Given the description of an element on the screen output the (x, y) to click on. 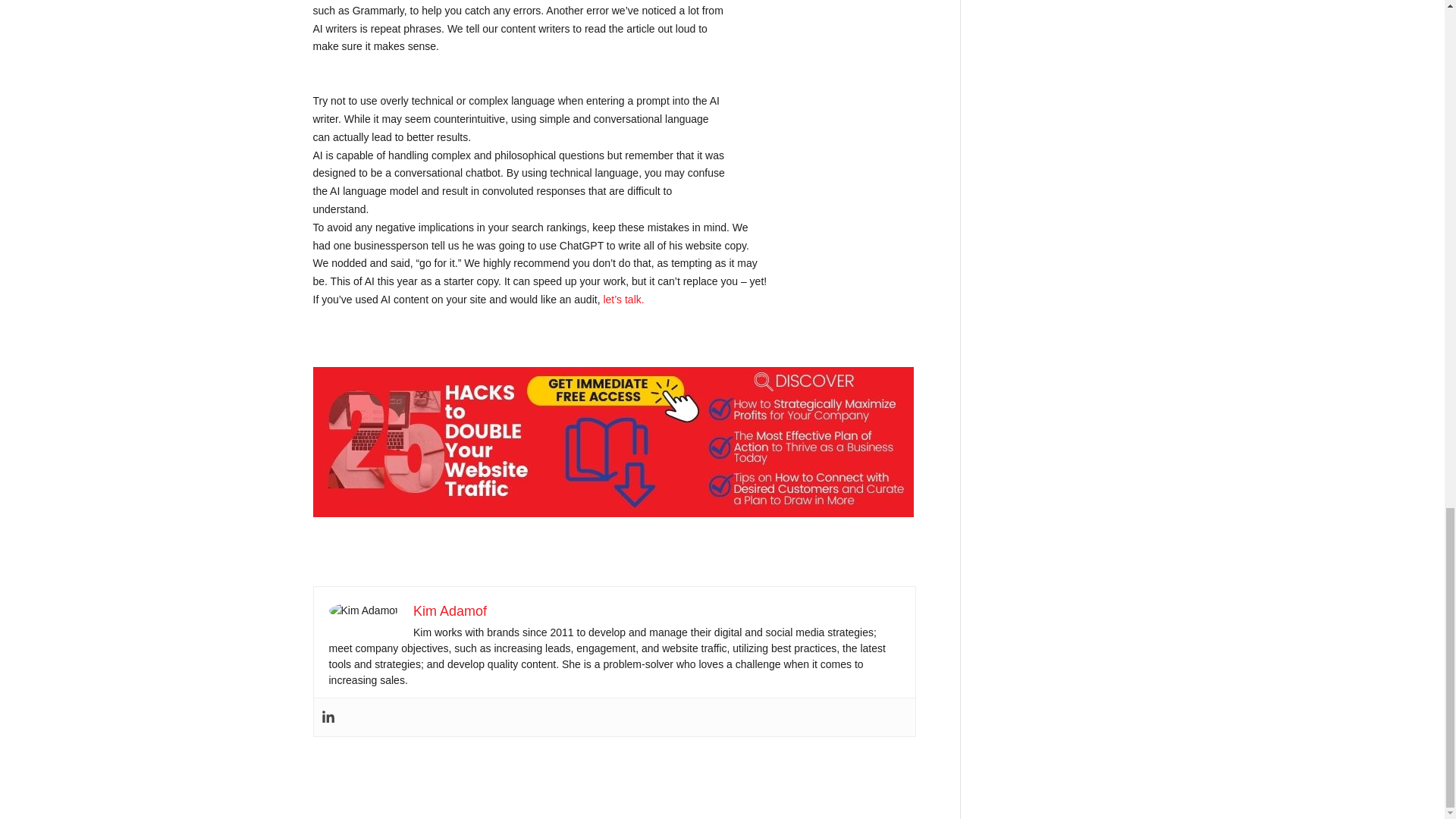
Linkedin (327, 717)
Caution, Most Businesses are Using AI Wrong 1 (363, 610)
Blog-Ebook-25-hacks-ebook-double-your-website-traffic (612, 441)
